Given the description of an element on the screen output the (x, y) to click on. 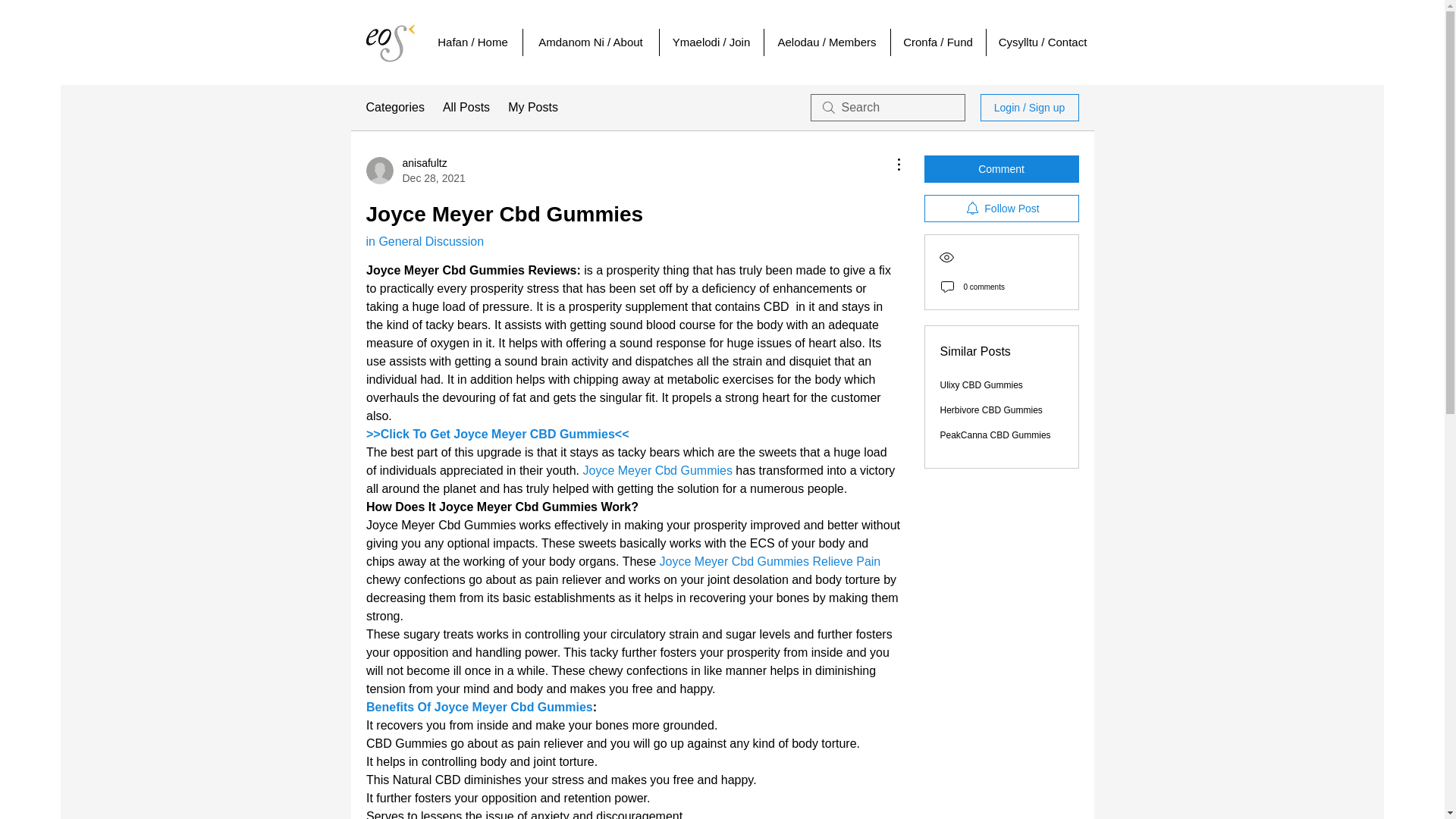
All Posts (465, 107)
in General Discussion (424, 241)
My Posts (532, 107)
Joyce Meyer Cbd Gummies (657, 470)
Categories (394, 107)
Benefits Of Joyce Meyer Cbd Gummies (478, 707)
Joyce Meyer Cbd Gummies Relieve Pain (769, 561)
